Given the description of an element on the screen output the (x, y) to click on. 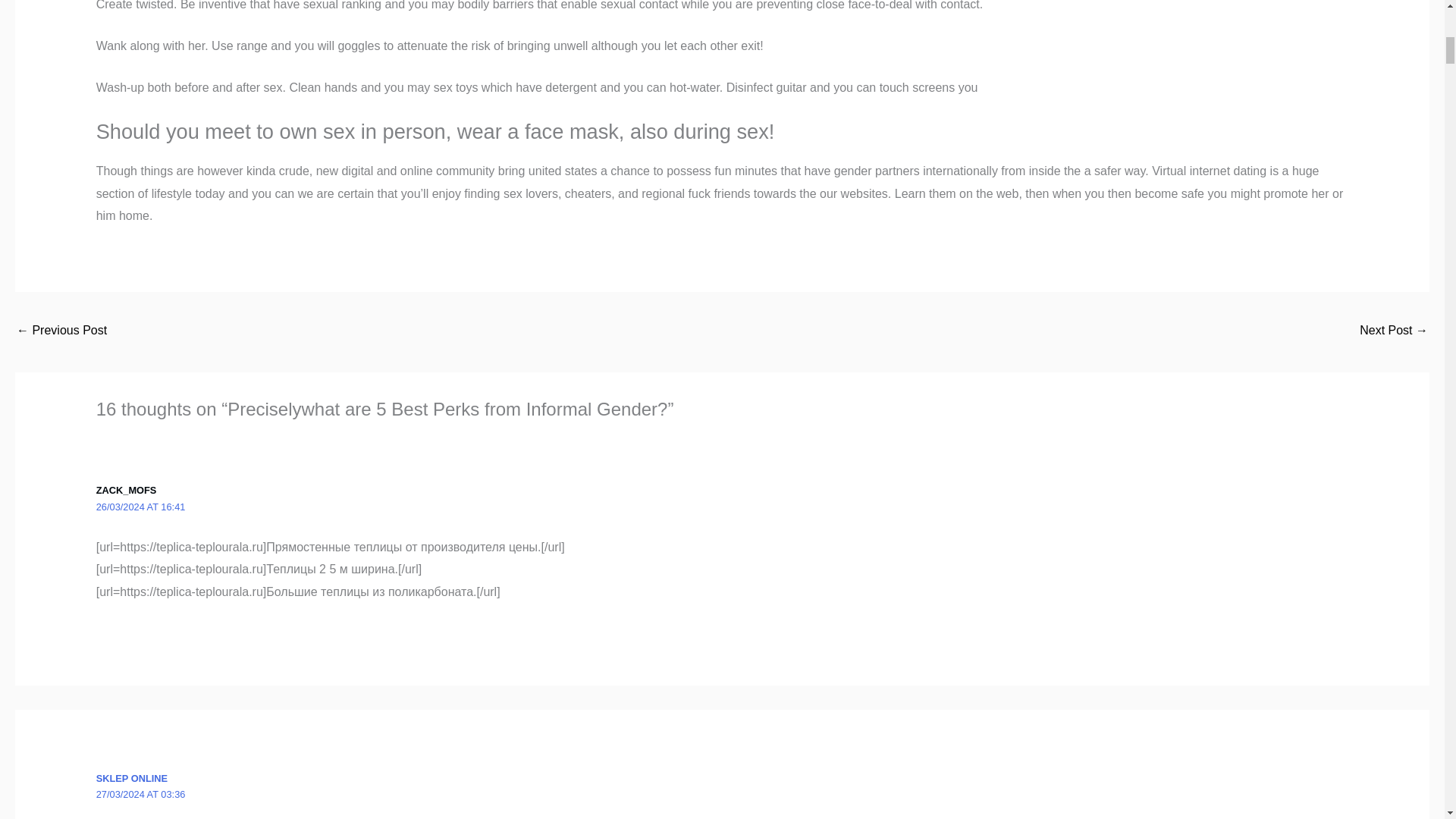
SKLEP ONLINE (131, 778)
